Given the description of an element on the screen output the (x, y) to click on. 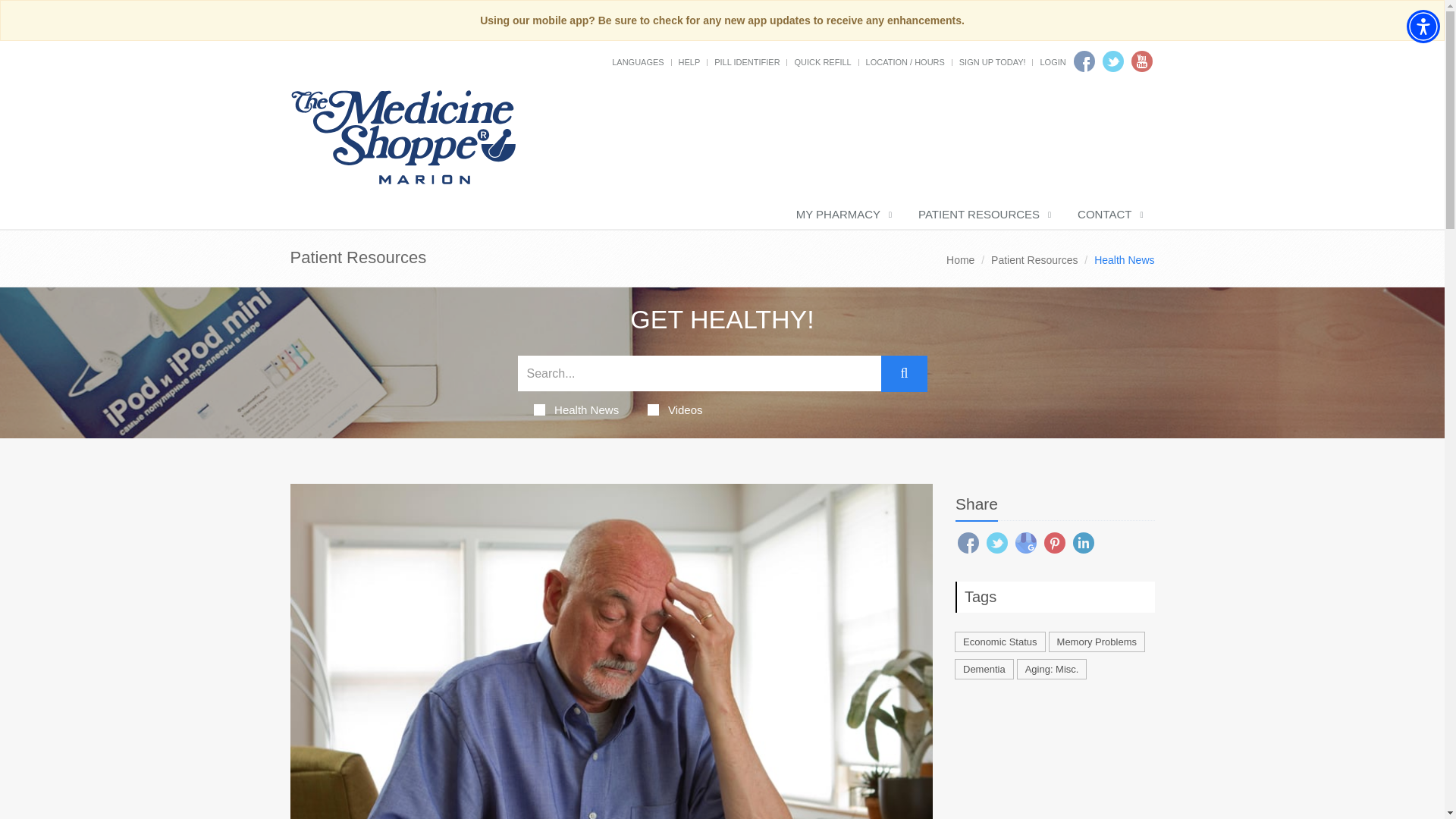
HELP (689, 61)
Accessibility Menu (1422, 26)
Home (960, 259)
SIGN UP TODAY! (992, 61)
QUICK REFILL (821, 61)
PILL IDENTIFIER (746, 61)
Patient Resources (1034, 259)
PATIENT RESOURCES (982, 214)
MY PHARMACY (841, 214)
LANGUAGES (637, 61)
CONTACT (1108, 214)
LOGIN (1052, 61)
